Given the description of an element on the screen output the (x, y) to click on. 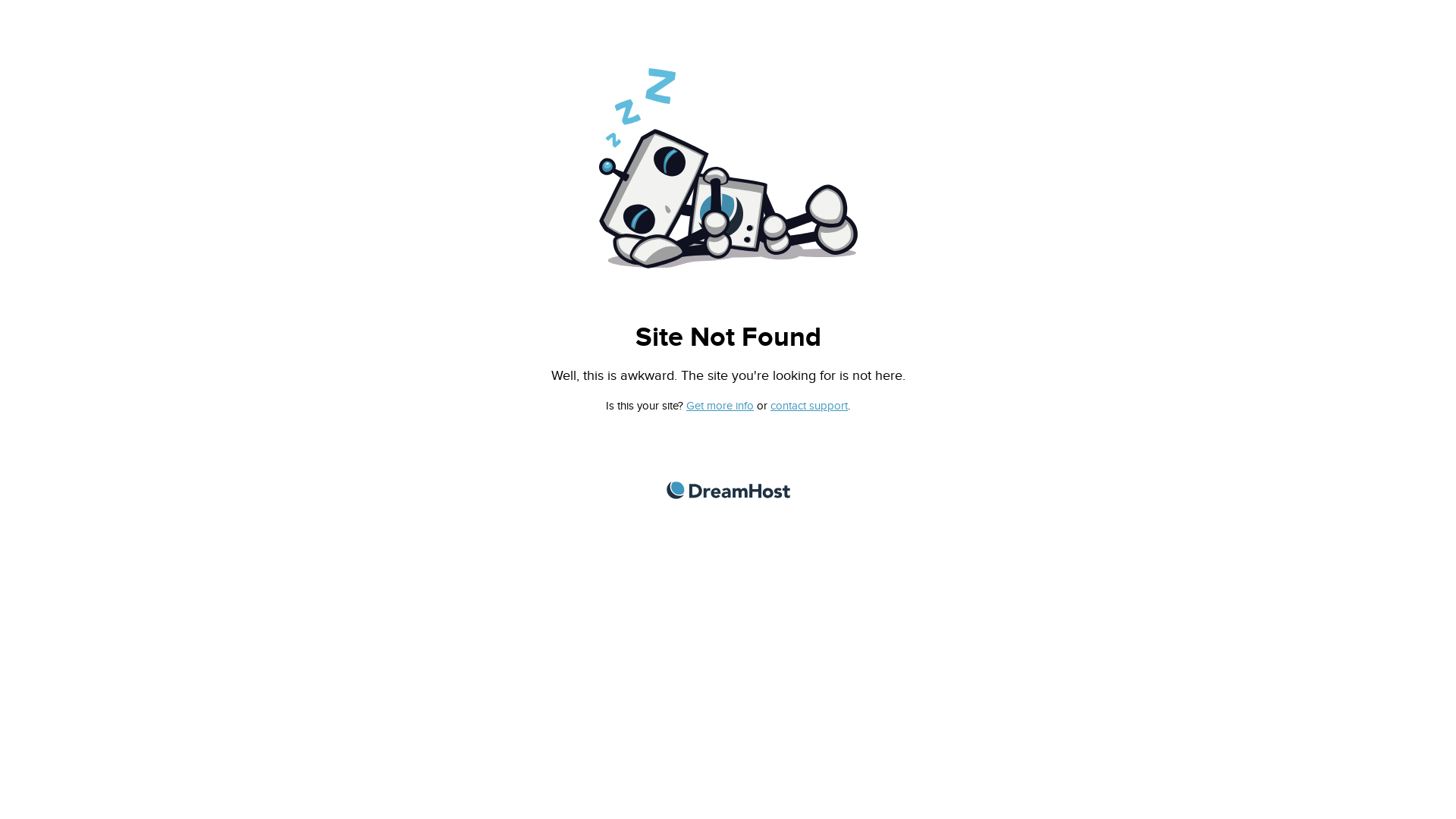
Get more info Element type: text (719, 405)
contact support Element type: text (808, 405)
DreamHost Element type: text (727, 489)
